Given the description of an element on the screen output the (x, y) to click on. 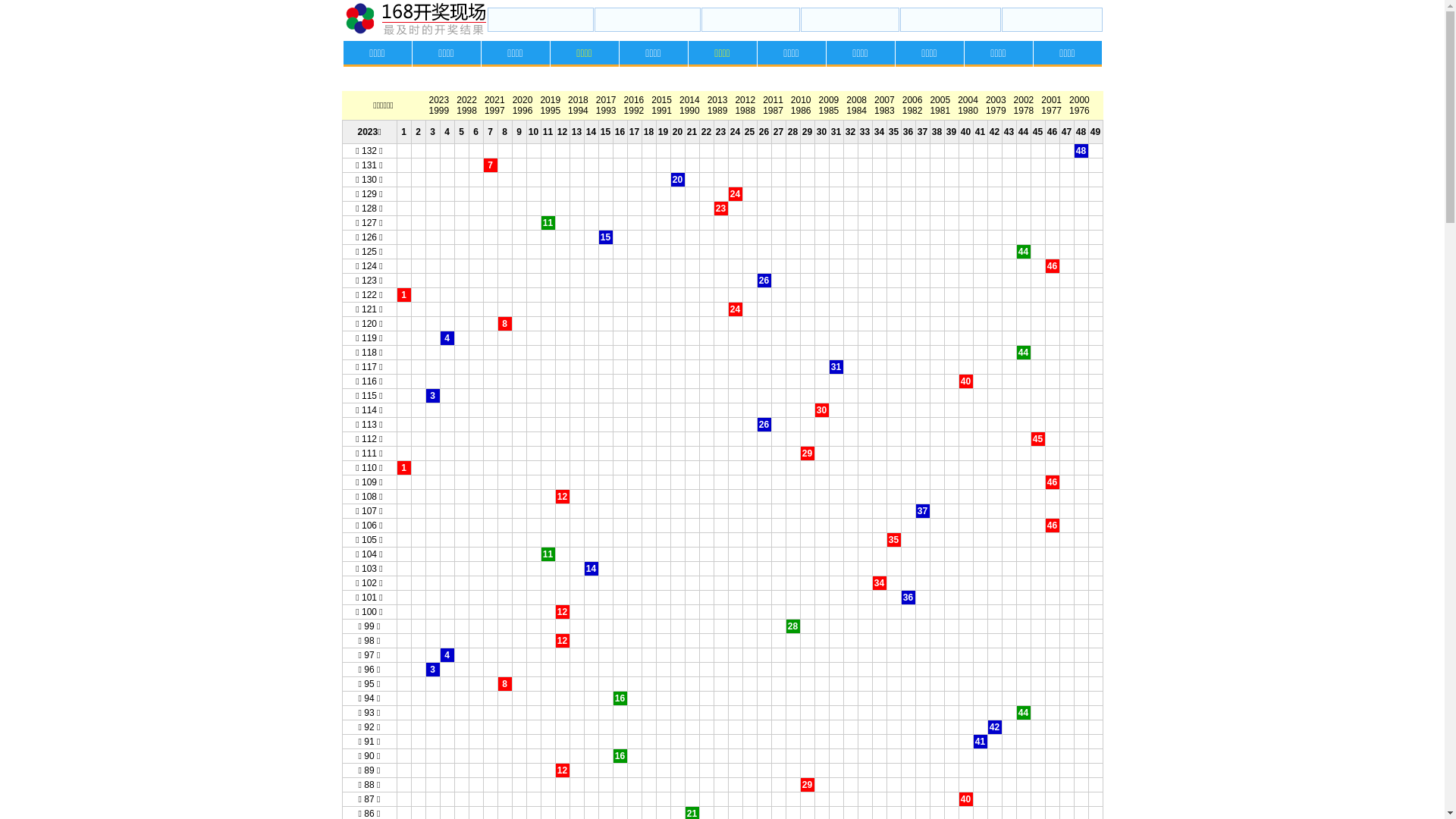
2010 Element type: text (800, 99)
1992 Element type: text (634, 110)
1977 Element type: text (1051, 110)
1993 Element type: text (606, 110)
2012 Element type: text (744, 99)
1996 Element type: text (522, 110)
1997 Element type: text (494, 110)
2022 Element type: text (466, 99)
1980 Element type: text (967, 110)
2008 Element type: text (856, 99)
1978 Element type: text (1023, 110)
1987 Element type: text (772, 110)
1994 Element type: text (577, 110)
2018 Element type: text (577, 99)
1984 Element type: text (856, 110)
1976 Element type: text (1079, 110)
2002 Element type: text (1023, 99)
1991 Element type: text (661, 110)
2004 Element type: text (967, 99)
2005 Element type: text (939, 99)
1988 Element type: text (744, 110)
1981 Element type: text (939, 110)
2001 Element type: text (1051, 99)
1986 Element type: text (800, 110)
2021 Element type: text (494, 99)
1989 Element type: text (717, 110)
2003 Element type: text (995, 99)
2019 Element type: text (549, 99)
2015 Element type: text (661, 99)
2020 Element type: text (522, 99)
2023 Element type: text (439, 99)
1985 Element type: text (829, 110)
2017 Element type: text (606, 99)
1999 Element type: text (439, 110)
2016 Element type: text (634, 99)
2009 Element type: text (829, 99)
1998 Element type: text (466, 110)
2013 Element type: text (717, 99)
2011 Element type: text (772, 99)
1979 Element type: text (995, 110)
2000 Element type: text (1079, 99)
2006 Element type: text (912, 99)
2007 Element type: text (884, 99)
1983 Element type: text (884, 110)
2014 Element type: text (689, 99)
1982 Element type: text (912, 110)
1990 Element type: text (689, 110)
1995 Element type: text (549, 110)
